Given the description of an element on the screen output the (x, y) to click on. 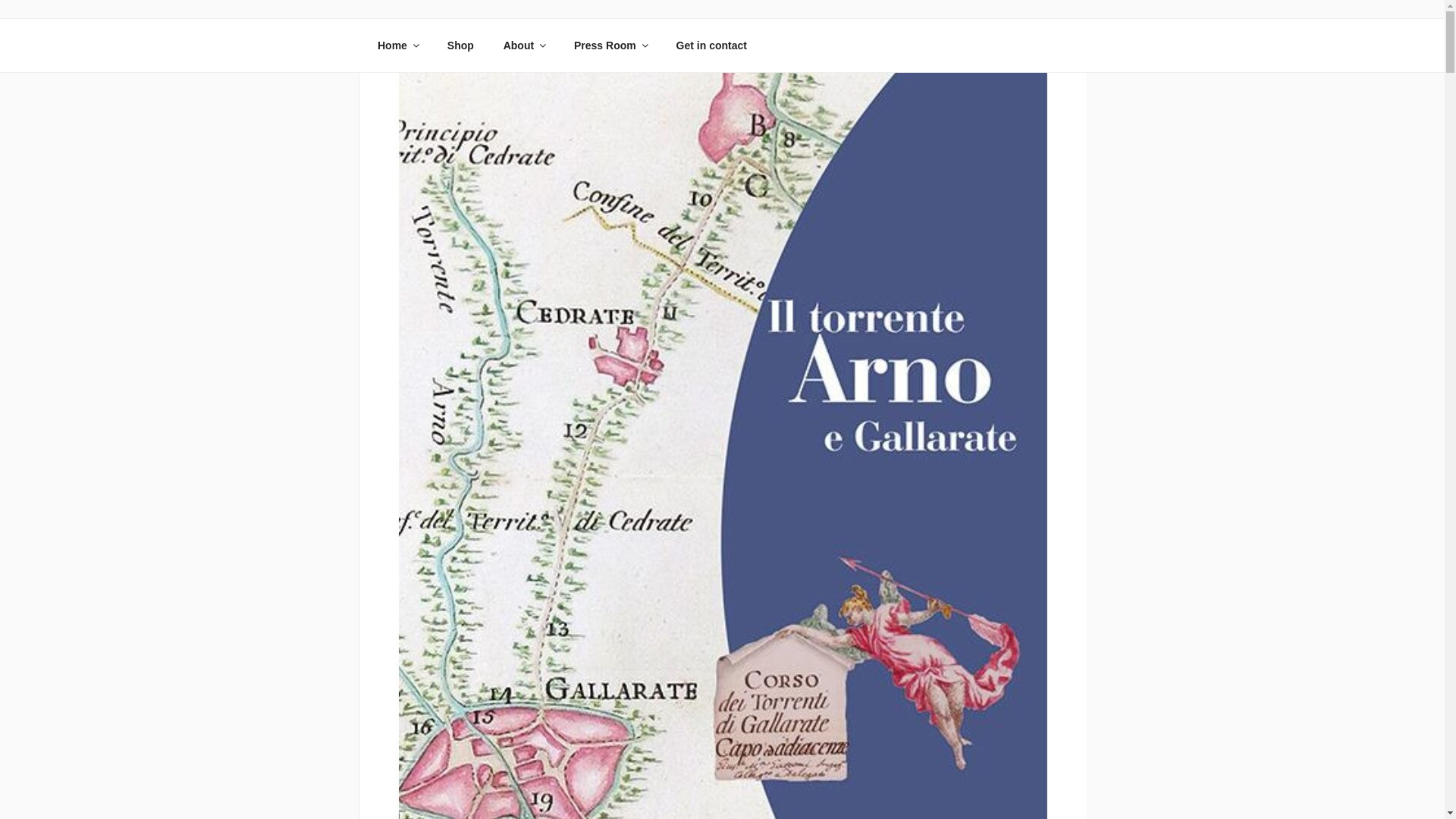
Press Room (610, 45)
Home (397, 45)
Shop (459, 45)
ISABELLA ZOCCHI (518, 52)
About (523, 45)
Get in contact (711, 45)
